Given the description of an element on the screen output the (x, y) to click on. 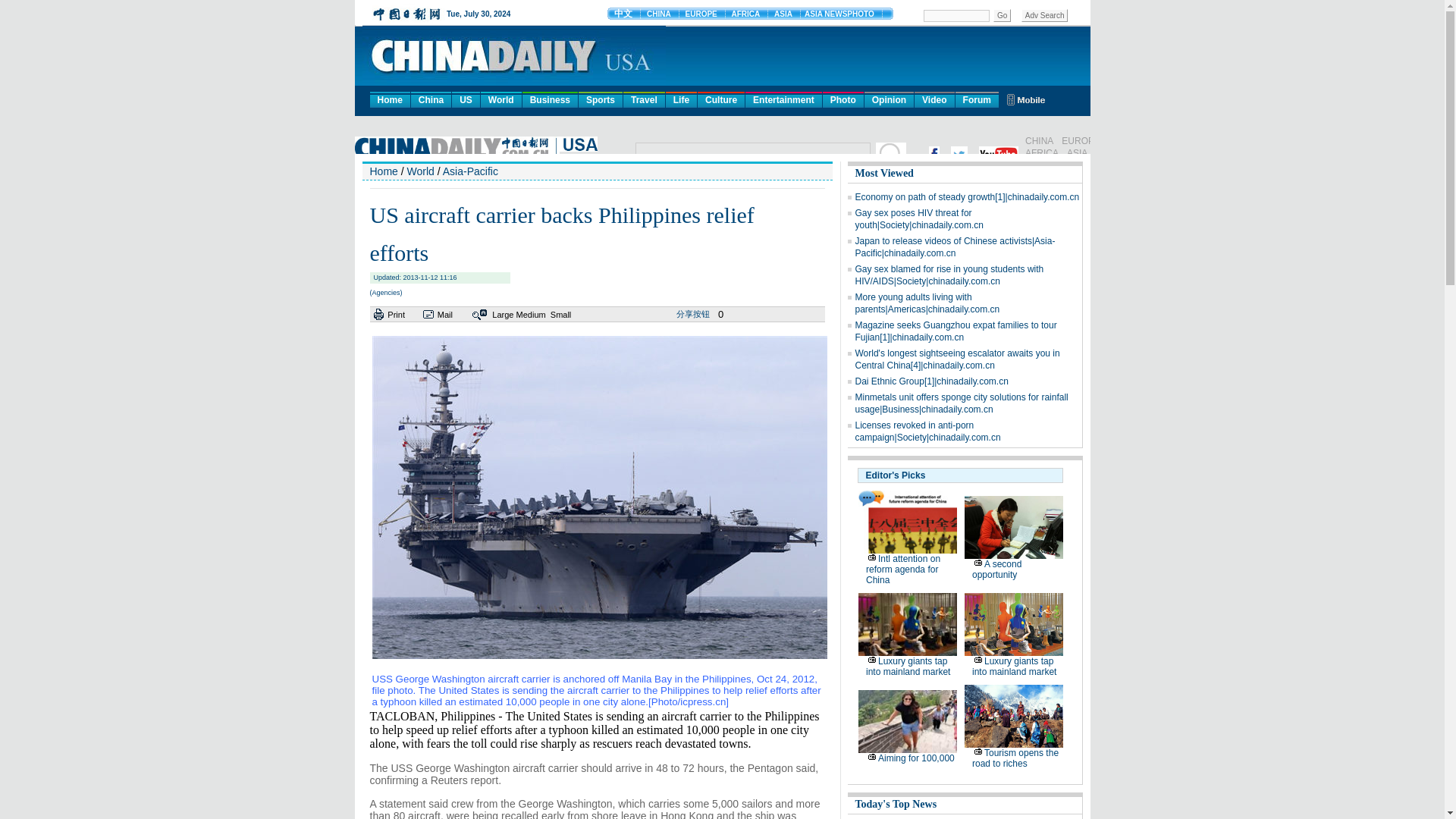
Business (550, 99)
Sports (600, 99)
Travel (644, 99)
World (500, 99)
China (430, 99)
US (465, 99)
Home (389, 99)
